Given the description of an element on the screen output the (x, y) to click on. 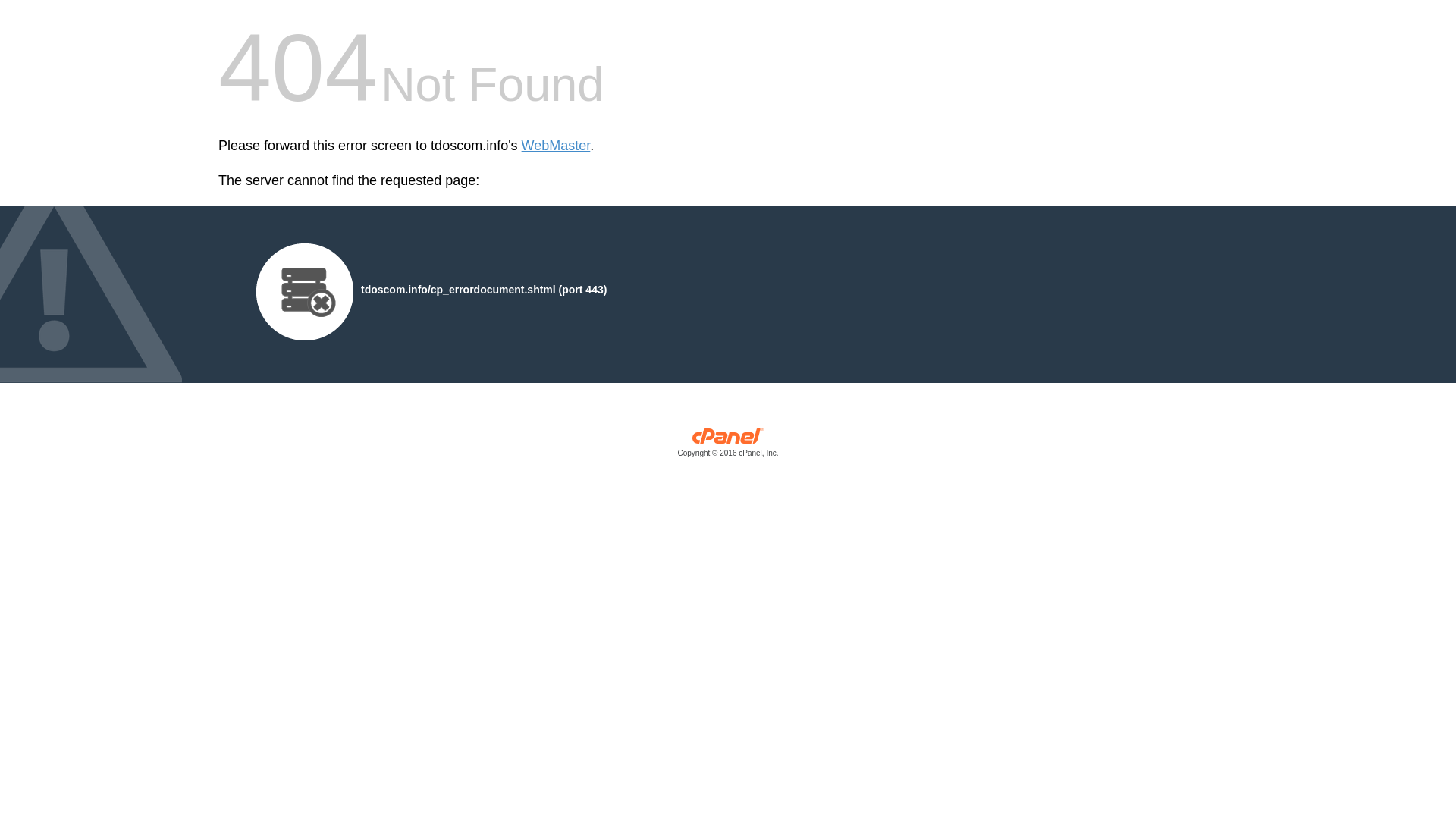
cPanel, Inc. (727, 446)
WebMaster (556, 145)
